Given the description of an element on the screen output the (x, y) to click on. 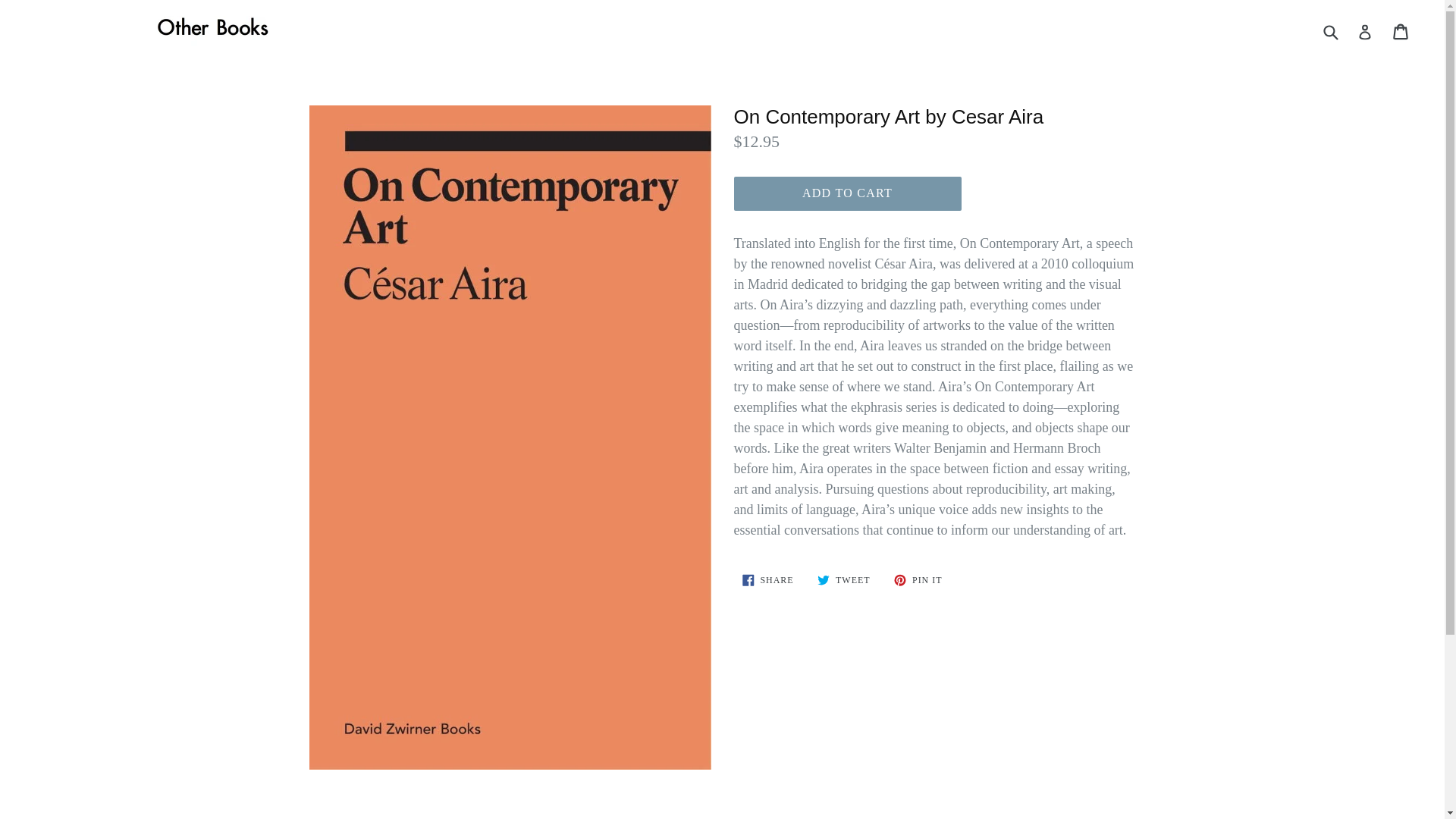
Pin on Pinterest (843, 579)
Share on Facebook (767, 579)
Tweet on Twitter (917, 579)
ADD TO CART (767, 579)
